Given the description of an element on the screen output the (x, y) to click on. 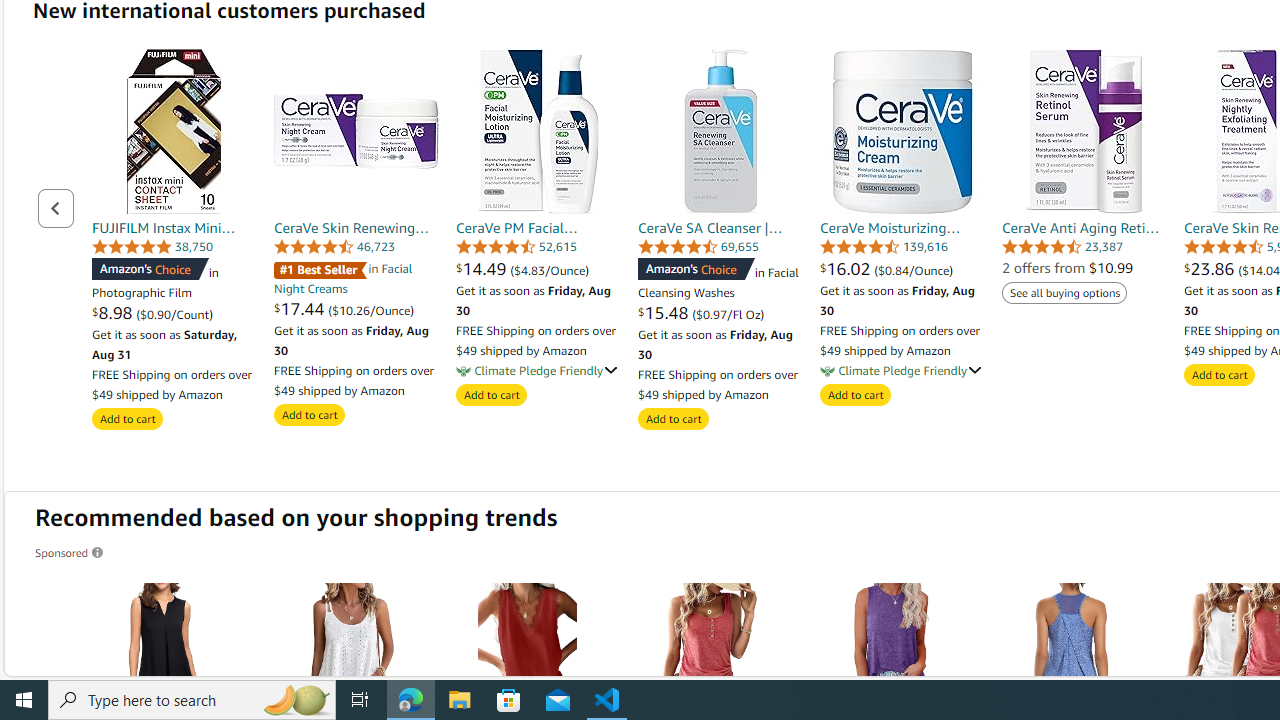
$17.44  (300, 308)
($4.83/Ounce) (549, 269)
